Given the description of an element on the screen output the (x, y) to click on. 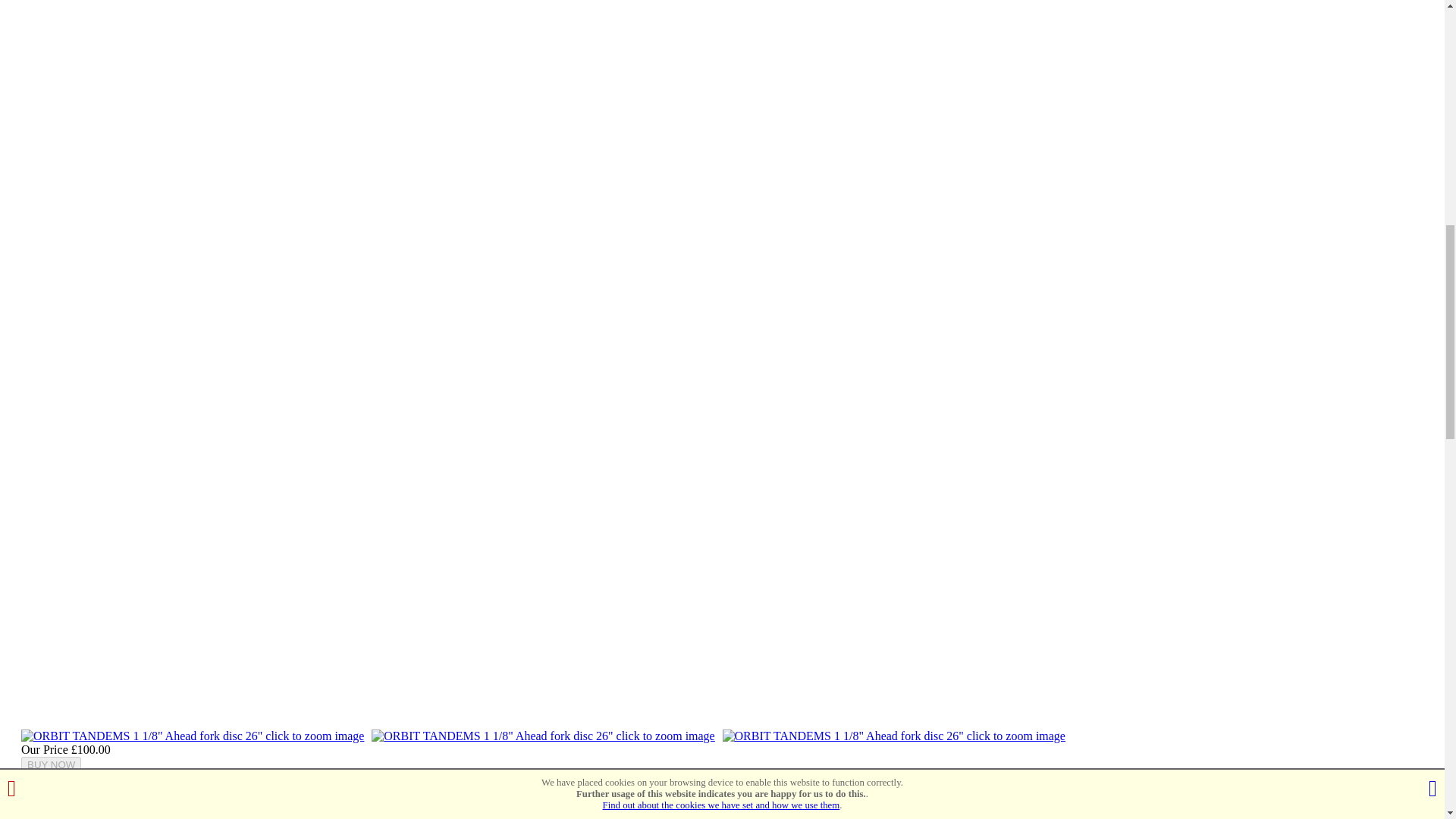
BUY NOW (51, 764)
